Given the description of an element on the screen output the (x, y) to click on. 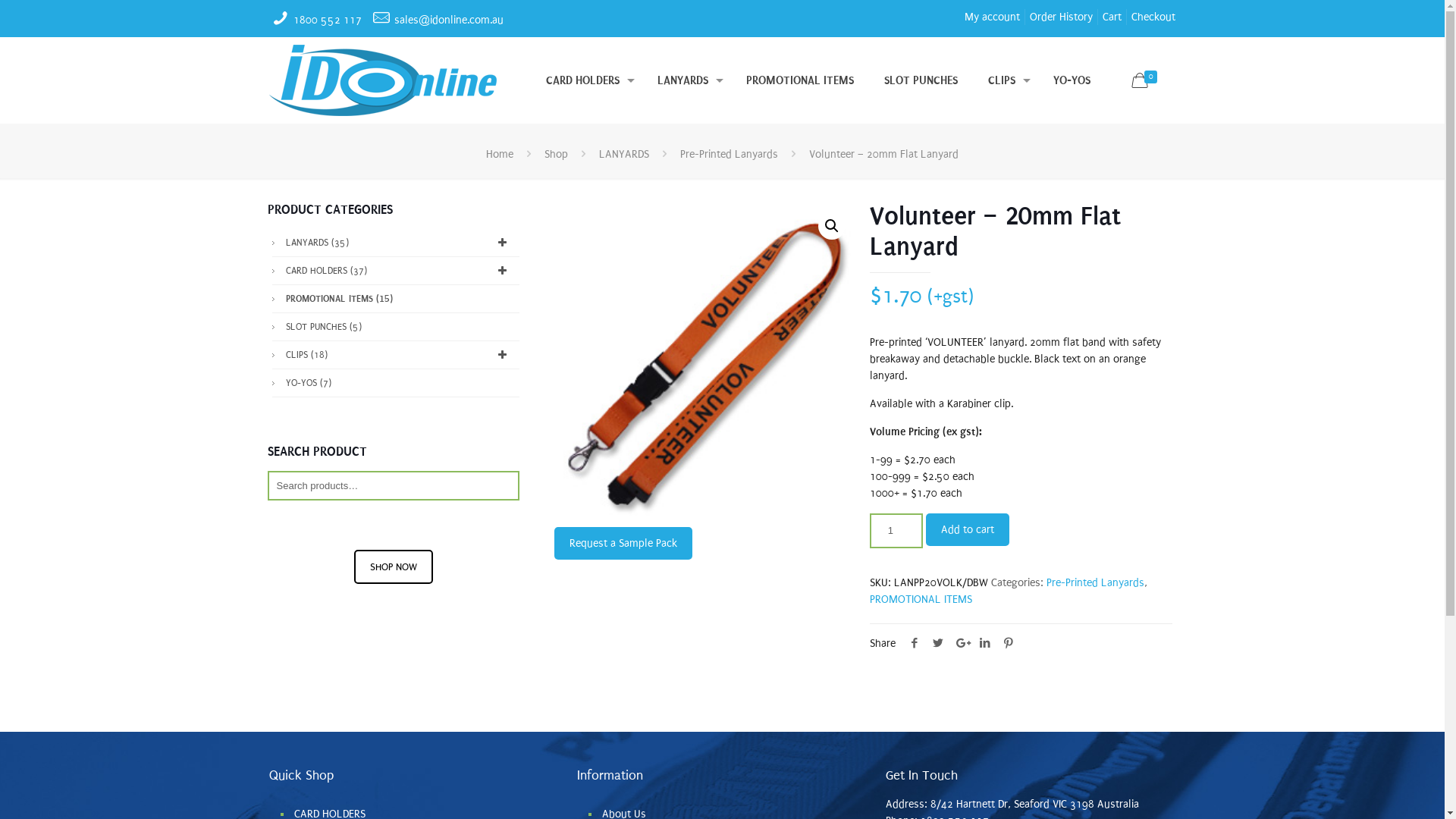
Search Element type: text (28, 13)
0 Element type: text (1146, 81)
Pre-Printed Lanyards Element type: text (729, 153)
PROMOTIONAL ITEMS Element type: text (800, 80)
SLOT PUNCHES (5) Element type: text (400, 326)
lanpp20-volunteer Element type: hover (705, 361)
Shop Element type: text (555, 153)
Qty Element type: hover (895, 530)
LANYARDS Element type: text (686, 80)
Add to cart Element type: text (967, 529)
CARD HOLDERS Element type: text (586, 80)
SHOP NOW Element type: text (392, 566)
PROMOTIONAL ITEMS (15) Element type: text (400, 298)
Cart Element type: text (1111, 16)
YO-YOS Element type: text (1071, 80)
YO-YOS (7) Element type: text (400, 382)
PROMOTIONAL ITEMS Element type: text (920, 599)
LANYARDS Element type: text (624, 153)
Pre-Printed Lanyards Element type: text (1095, 582)
Home Element type: text (499, 153)
SLOT PUNCHES Element type: text (920, 80)
LANYARDS (35) Element type: text (400, 242)
ID online Element type: hover (382, 80)
CARD HOLDERS (37) Element type: text (400, 270)
Order History Element type: text (1060, 16)
CLIPS (18) Element type: text (400, 354)
My account Element type: text (991, 16)
Checkout Element type: text (1153, 16)
1800 552 117 Element type: text (327, 19)
CLIPS Element type: text (1005, 80)
Request a Sample Pack Element type: text (623, 543)
sales@idonline.com.au Element type: text (448, 19)
